Given the description of an element on the screen output the (x, y) to click on. 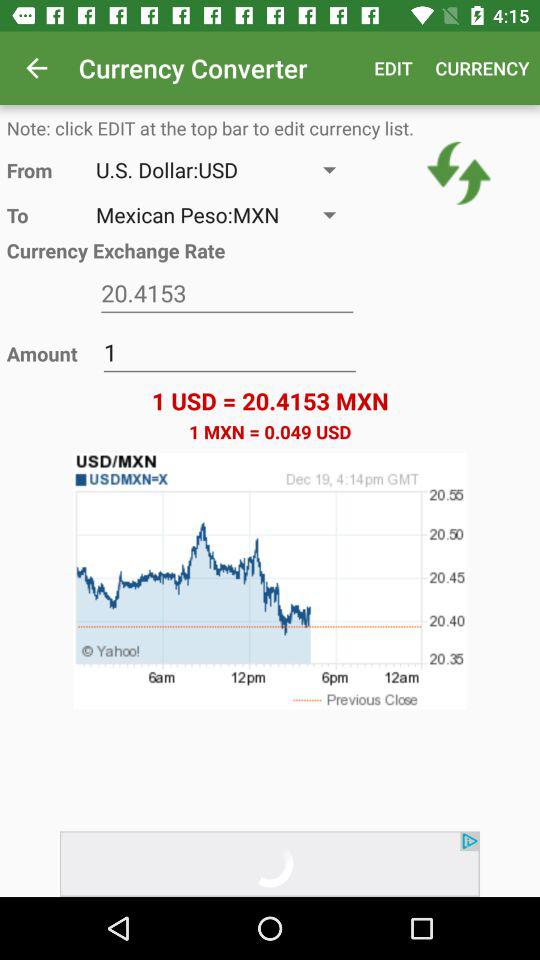
move forward (270, 864)
